Given the description of an element on the screen output the (x, y) to click on. 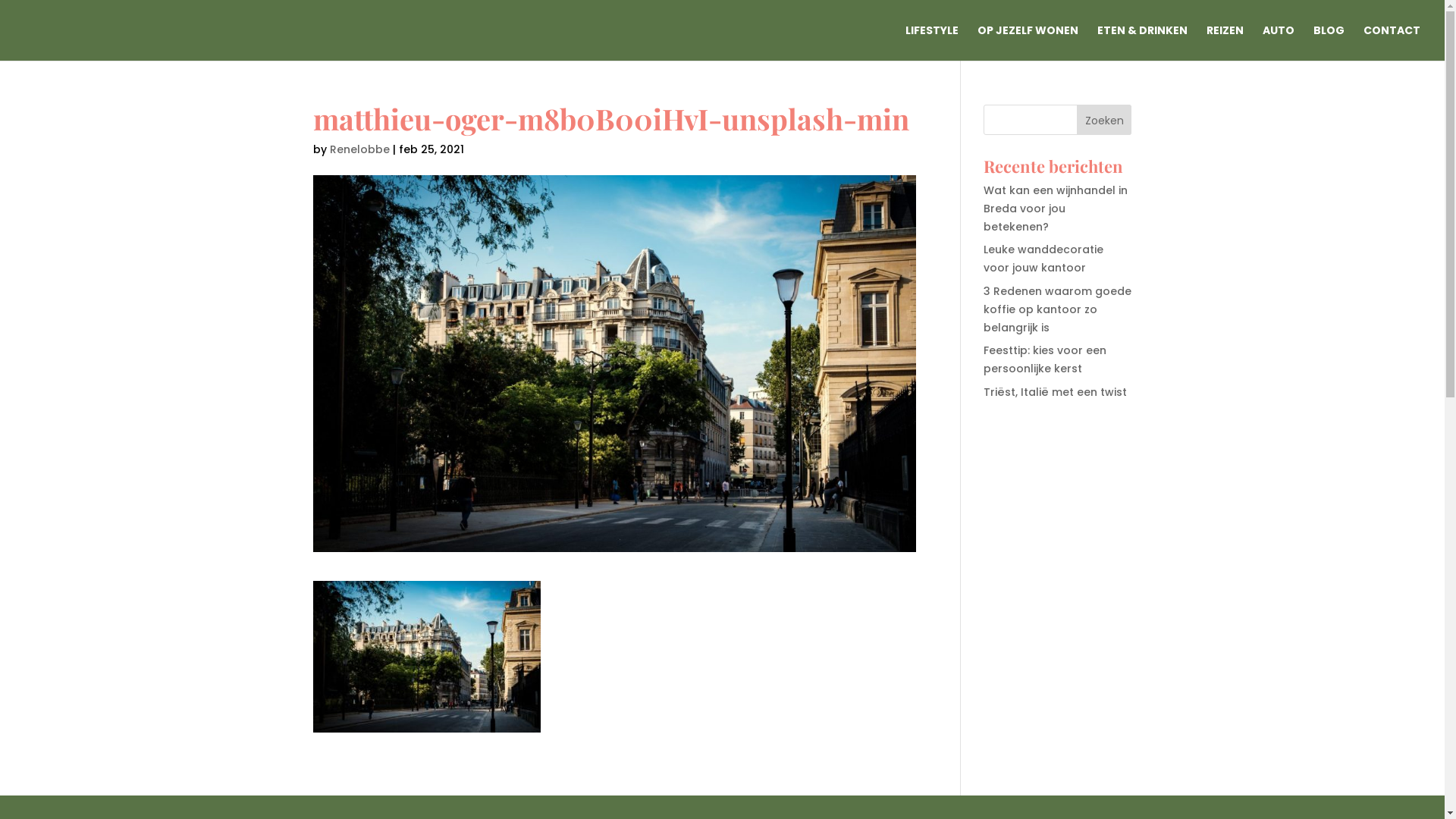
Renelobbe Element type: text (359, 148)
BLOG Element type: text (1328, 42)
Leuke wanddecoratie voor jouw kantoor Element type: text (1043, 258)
3 Redenen waarom goede koffie op kantoor zo belangrijk is Element type: text (1057, 309)
Zoeken Element type: text (1104, 119)
AUTO Element type: text (1278, 42)
LIFESTYLE Element type: text (931, 42)
Feesttip: kies voor een persoonlijke kerst Element type: text (1044, 359)
REIZEN Element type: text (1224, 42)
CONTACT Element type: text (1391, 42)
OP JEZELF WONEN Element type: text (1027, 42)
ETEN & DRINKEN Element type: text (1142, 42)
Wat kan een wijnhandel in Breda voor jou betekenen? Element type: text (1055, 208)
